Given the description of an element on the screen output the (x, y) to click on. 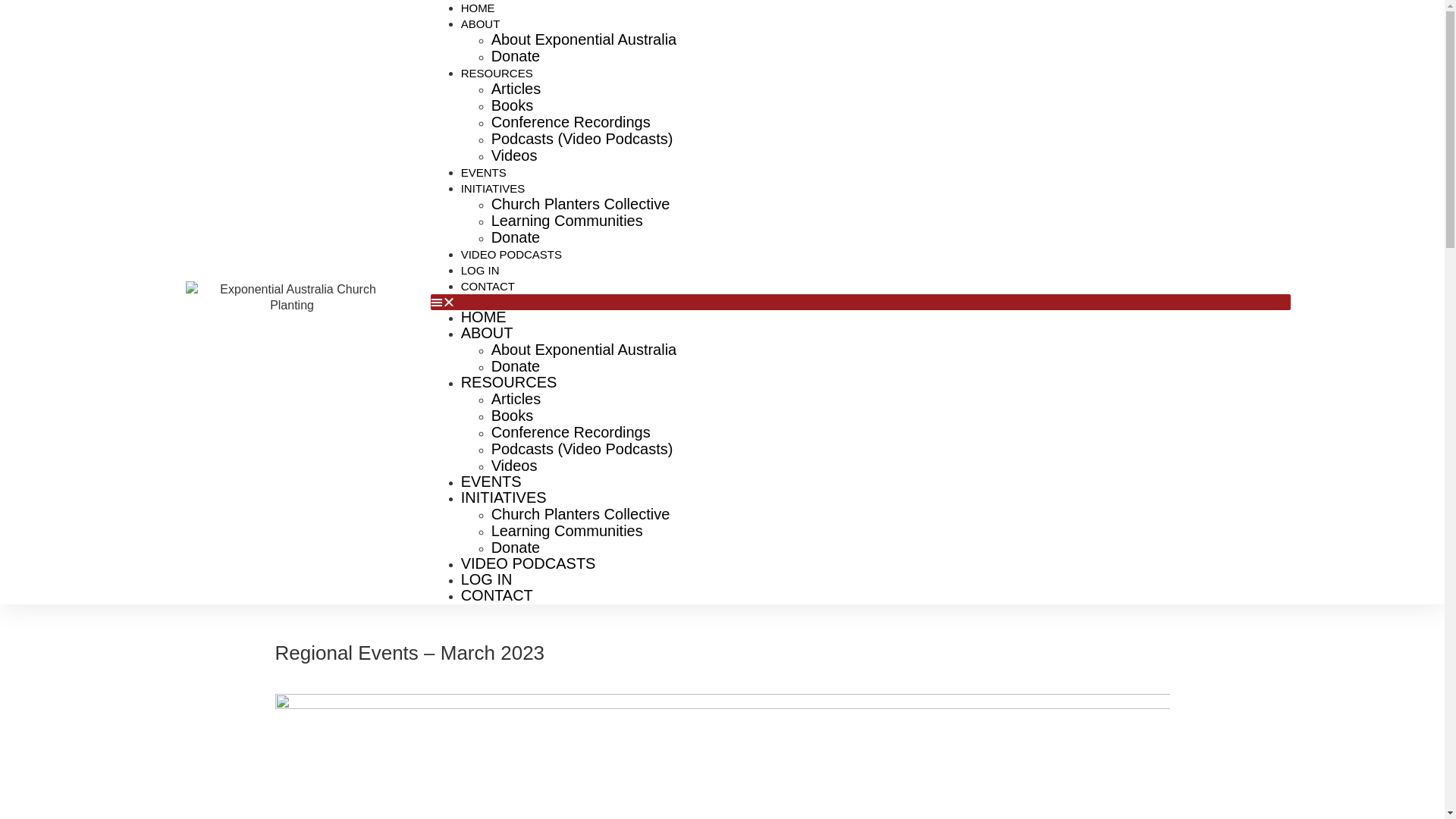
About Exponential Australia Element type: text (584, 39)
Learning Communities Element type: text (567, 530)
LOG IN Element type: text (486, 579)
About Exponential Australia Element type: text (584, 349)
EVENTS Element type: text (483, 172)
Podcasts (Video Podcasts) Element type: text (582, 448)
HOME Element type: text (483, 316)
Conference Recordings Element type: text (570, 121)
LOG IN Element type: text (480, 270)
Donate Element type: text (515, 547)
EVENTS Element type: text (491, 481)
VIDEO PODCASTS Element type: text (511, 254)
Donate Element type: text (515, 237)
RESOURCES Element type: text (509, 381)
RESOURCES Element type: text (497, 72)
INITIATIVES Element type: text (493, 188)
Conference Recordings Element type: text (570, 432)
Donate Element type: text (515, 55)
Donate Element type: text (515, 366)
Books Element type: text (512, 415)
CONTACT Element type: text (497, 595)
Learning Communities Element type: text (567, 220)
ABOUT Element type: text (487, 332)
Videos Element type: text (514, 155)
ABOUT Element type: text (480, 23)
Books Element type: text (512, 105)
Podcasts (Video Podcasts) Element type: text (582, 138)
VIDEO PODCASTS Element type: text (528, 563)
Church Planters Collective Element type: text (580, 513)
Church Planters Collective Element type: text (580, 203)
CONTACT Element type: text (487, 285)
Videos Element type: text (514, 465)
Articles Element type: text (516, 88)
Articles Element type: text (516, 398)
INITIATIVES Element type: text (503, 497)
